Given the description of an element on the screen output the (x, y) to click on. 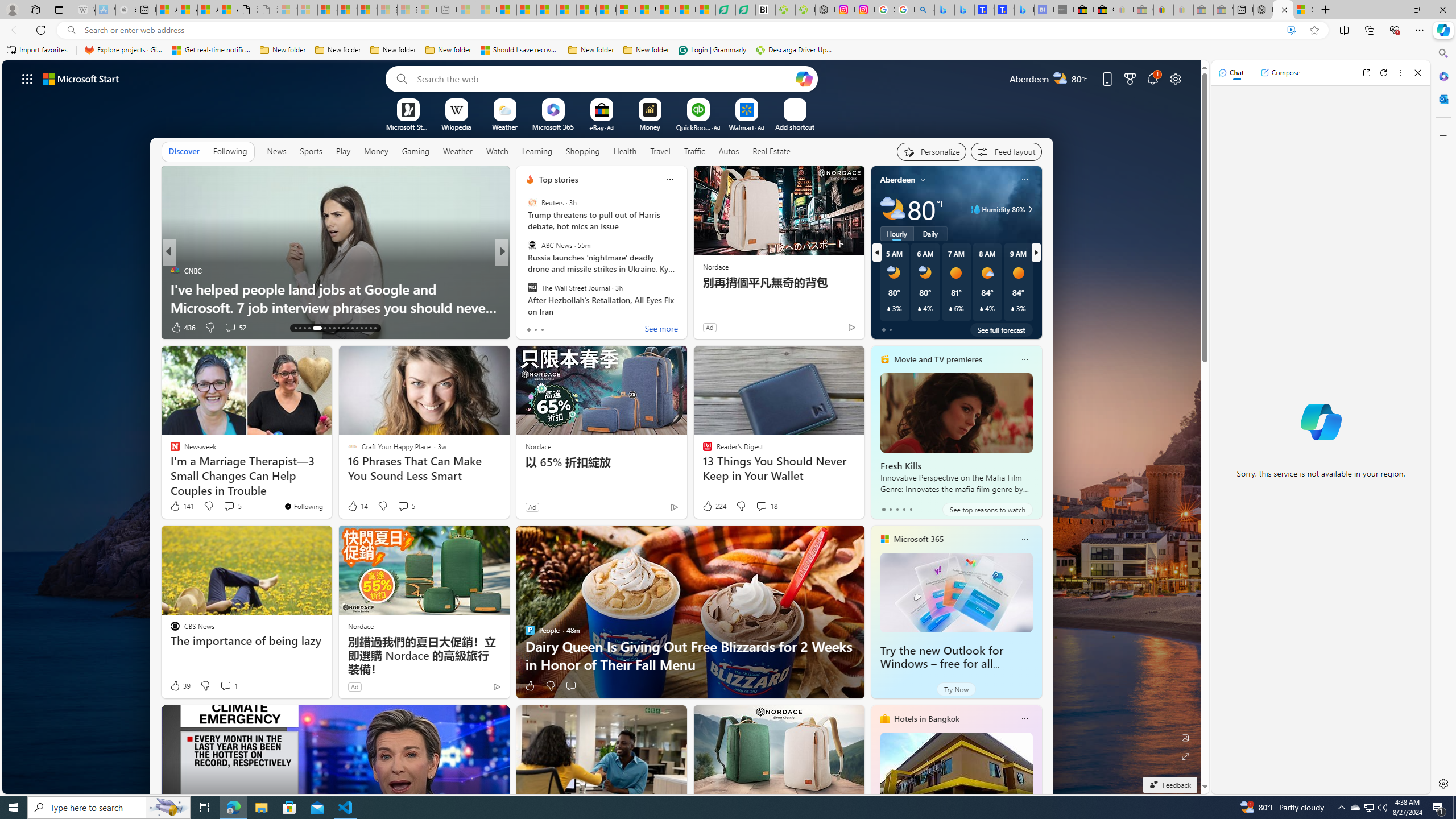
Page settings (1175, 78)
AutomationID: tab-23 (347, 328)
Aberdeen (897, 179)
14 Like (357, 505)
BuzzFeed (524, 270)
Feed settings (1005, 151)
Partly cloudy (892, 208)
ABC News (532, 245)
